Given the description of an element on the screen output the (x, y) to click on. 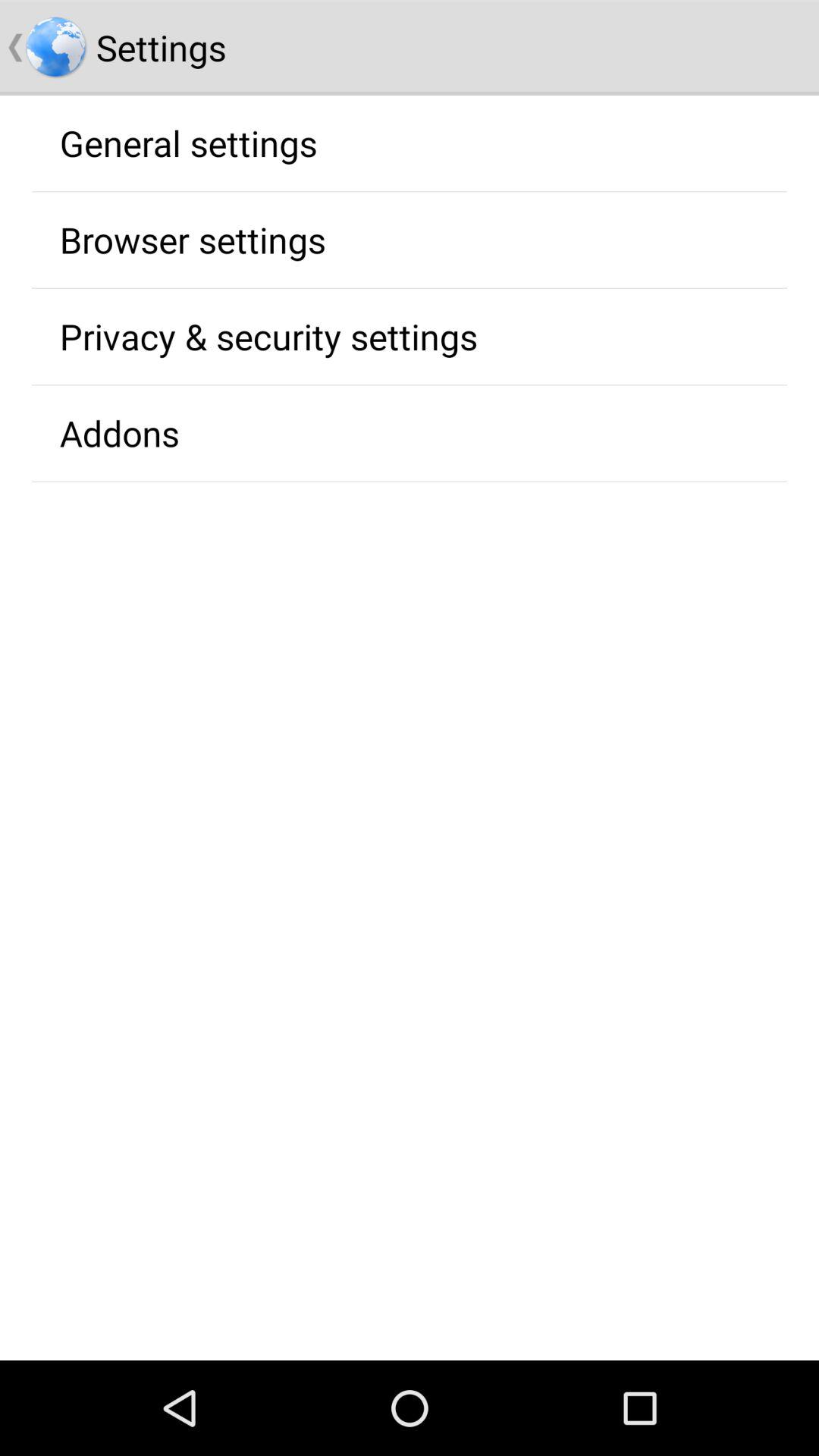
click privacy & security settings icon (268, 336)
